Given the description of an element on the screen output the (x, y) to click on. 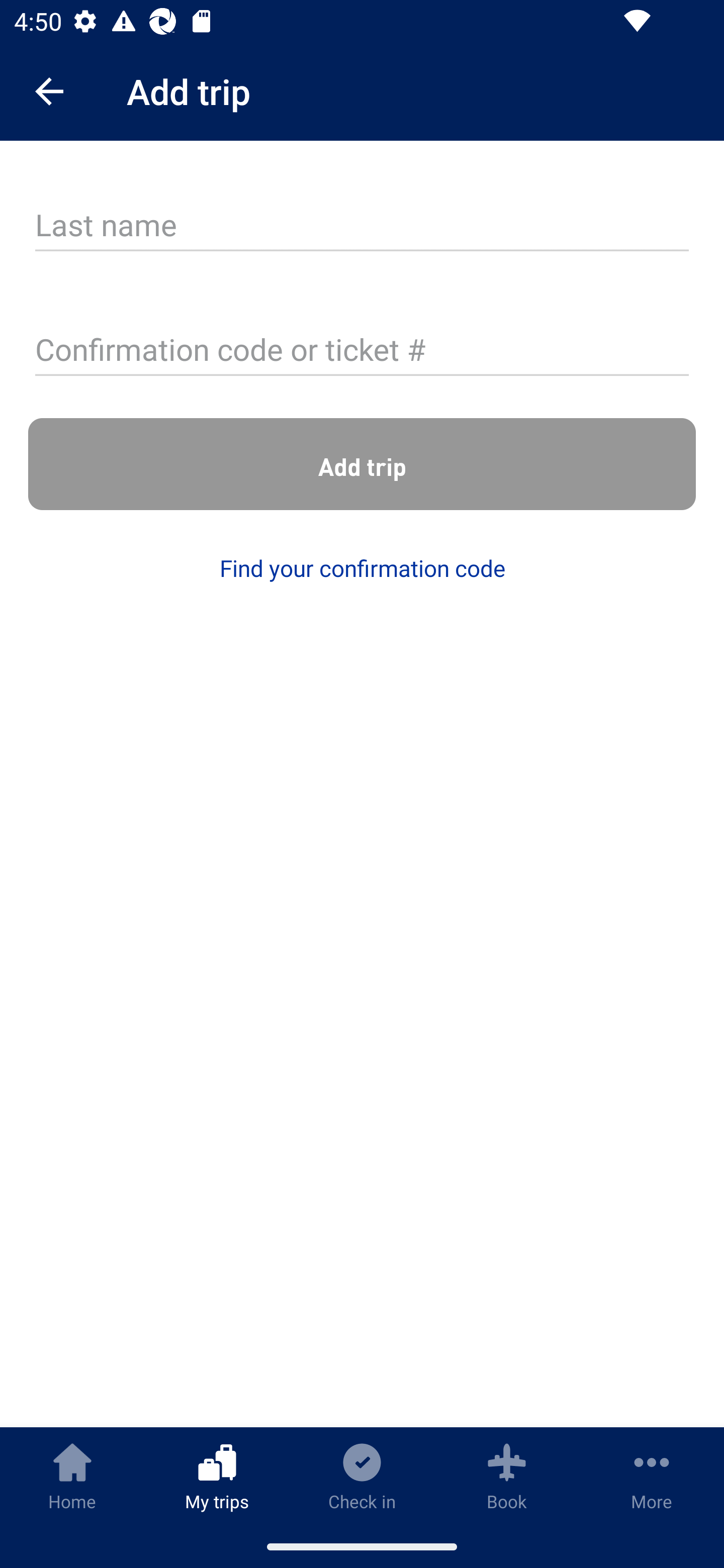
Navigate up (49, 91)
Last name (361, 226)
Confirmation code or ticket # (361, 351)
Add trip (361, 463)
Home (72, 1475)
Check in (361, 1475)
Book (506, 1475)
More (651, 1475)
